Given the description of an element on the screen output the (x, y) to click on. 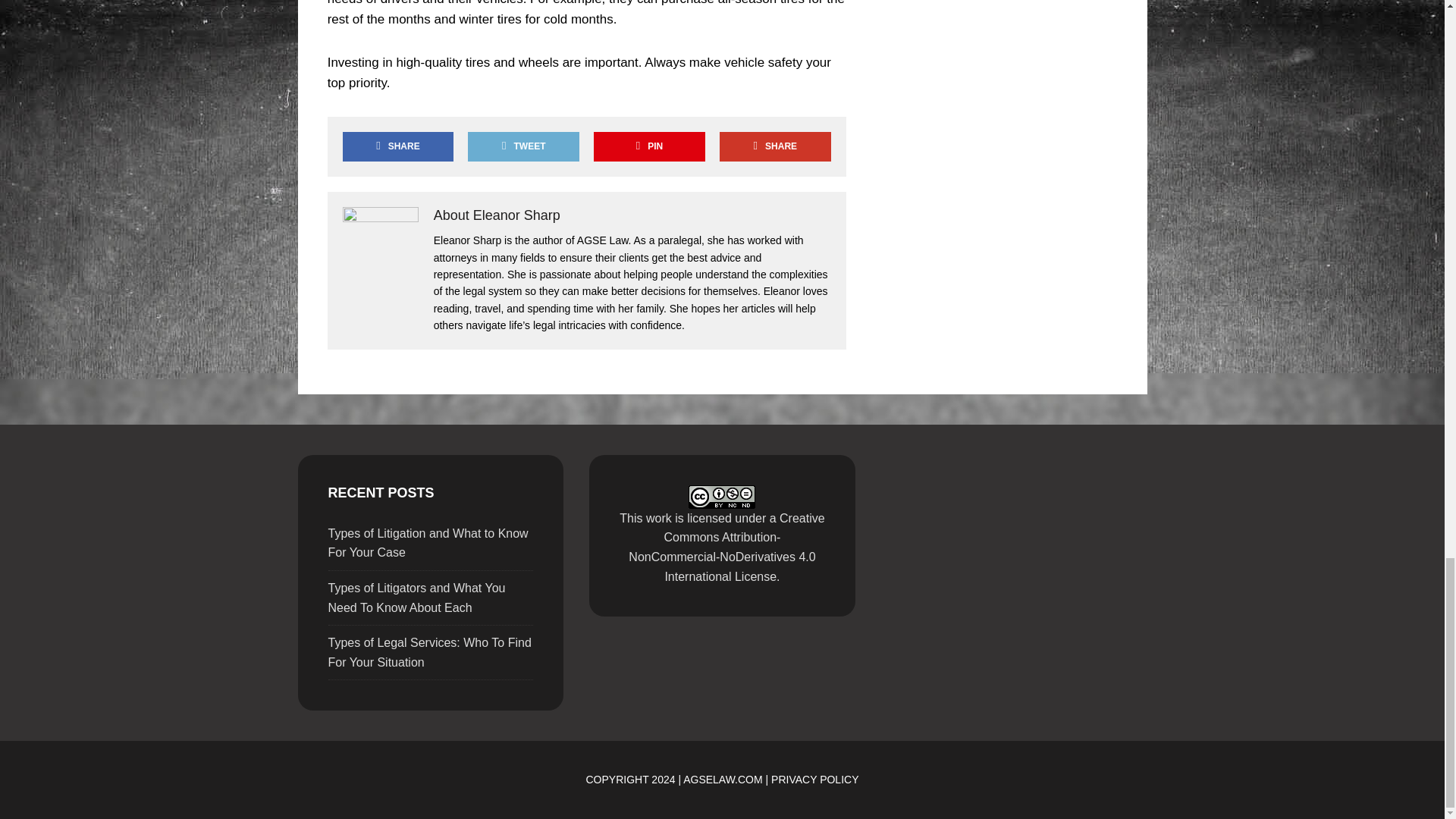
Pin This Post (649, 146)
About Eleanor Sharp (496, 215)
PRIVACY POLICY (815, 779)
TWEET (522, 146)
PIN (649, 146)
SHARE (397, 146)
SHARE (774, 146)
Types of Litigators and What You Need To Know About Each (416, 597)
Tweet This Post (522, 146)
